Given the description of an element on the screen output the (x, y) to click on. 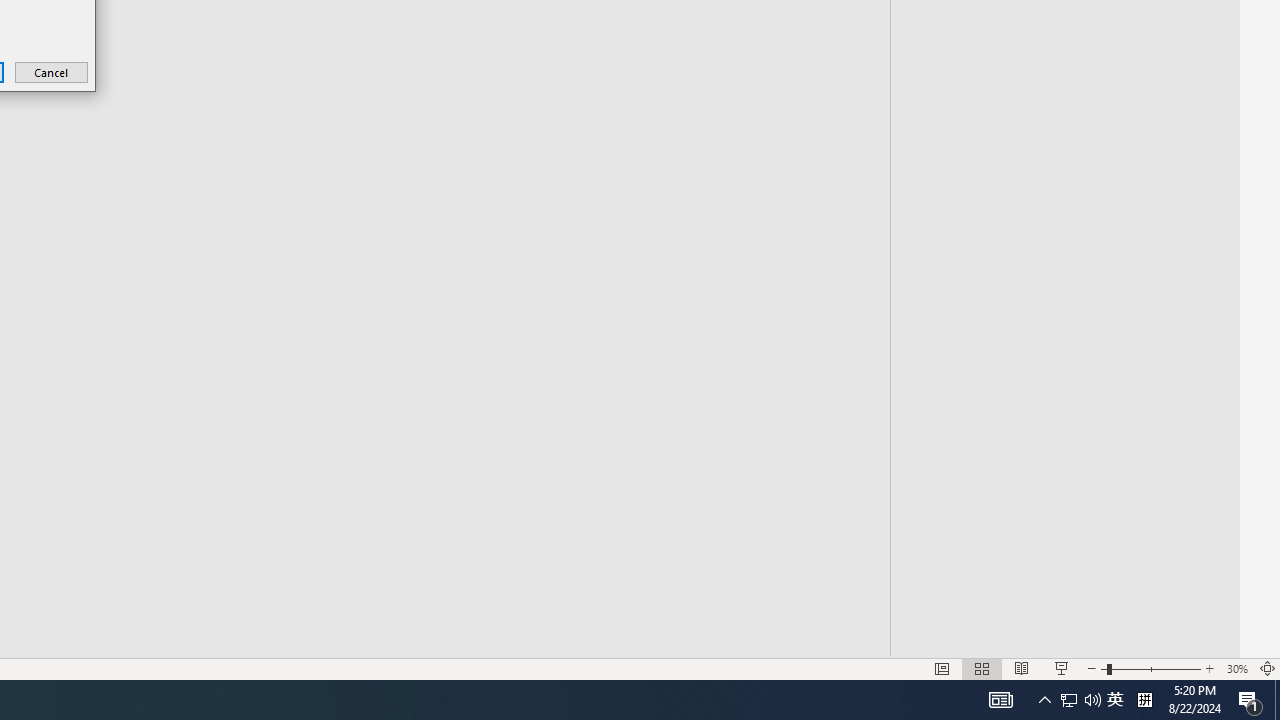
Zoom 30% (1236, 668)
